Given the description of an element on the screen output the (x, y) to click on. 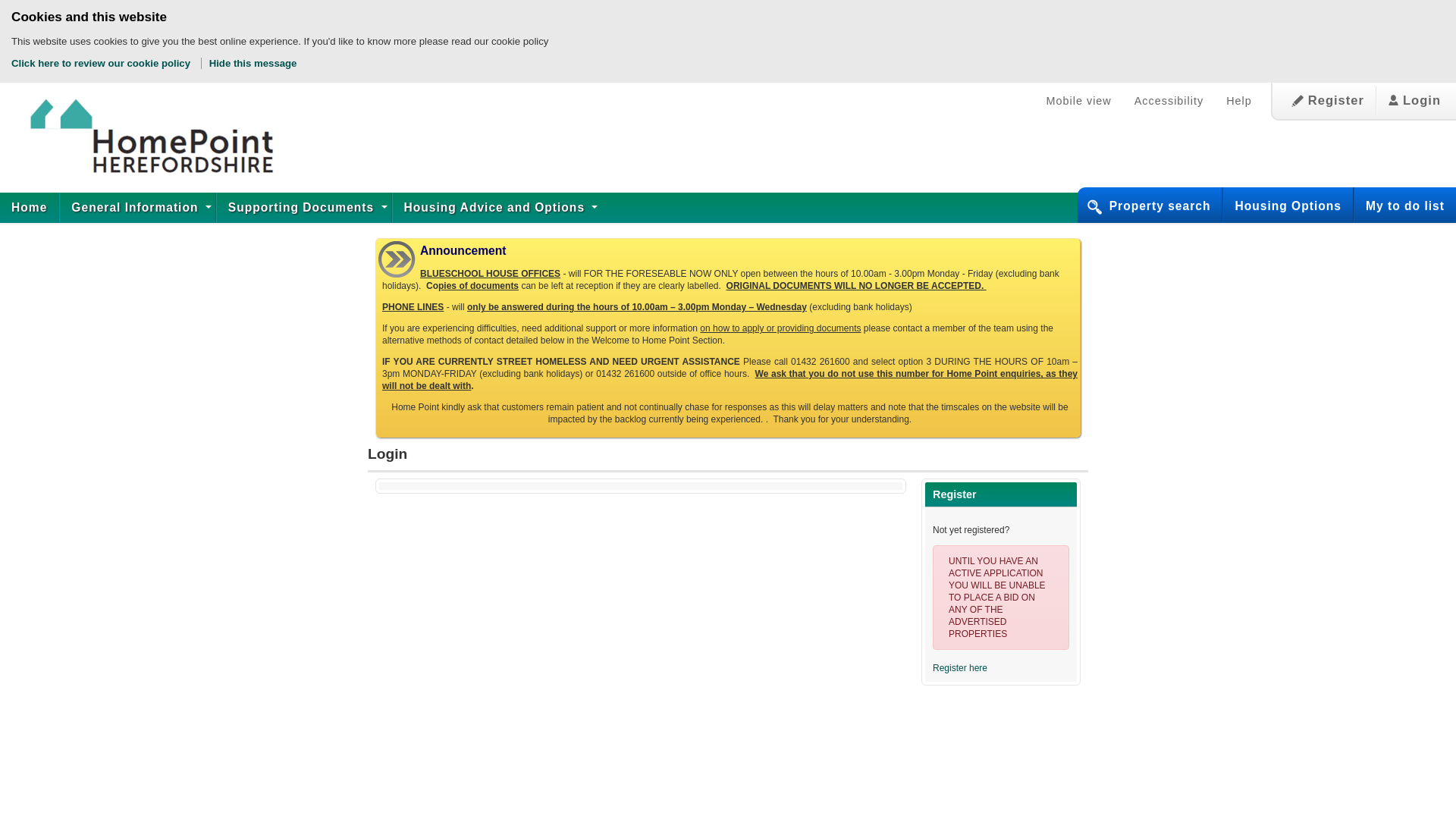
Home (29, 207)
Housing Advice and Options (497, 207)
Login (1414, 100)
Show the Supporting Documents menu (303, 207)
Show the Housing Advice and Options menu (497, 207)
Supporting Documents (303, 207)
Property search (1166, 206)
Register (1327, 100)
Show the General Information menu (136, 207)
HomePoint Herefordshire (139, 138)
Click here to review our cookie policy (102, 62)
Accessibility (1168, 100)
Register here (960, 667)
General Information (136, 207)
Help (1238, 100)
